Given the description of an element on the screen output the (x, y) to click on. 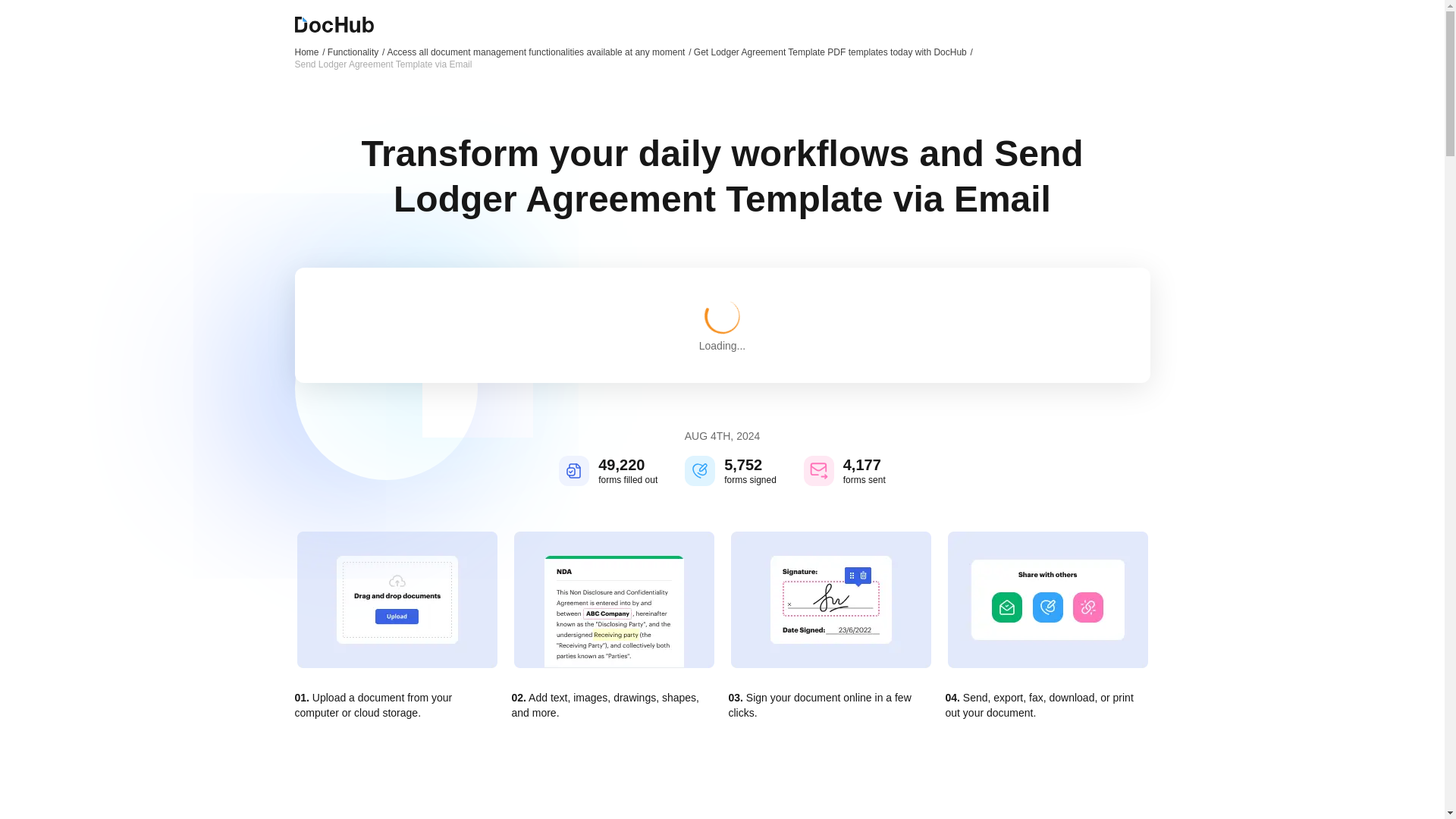
Home (309, 51)
Functionality (355, 51)
